Given the description of an element on the screen output the (x, y) to click on. 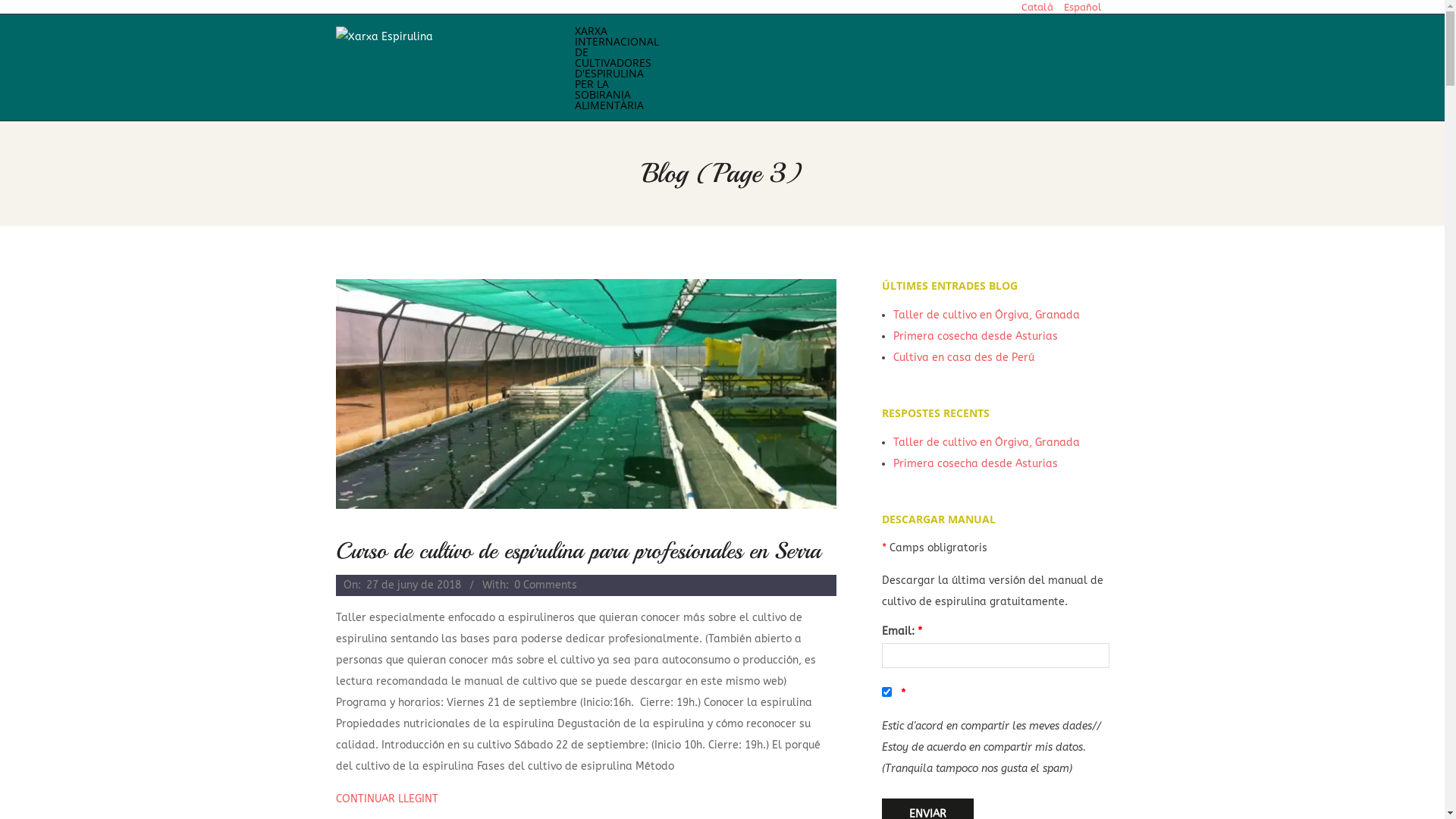
Primera cosecha desde Asturias Element type: text (975, 463)
0 Comments Element type: text (545, 584)
Curso de cultivo de espirulina para profesionales en Serra Element type: text (577, 550)
Primera cosecha desde Asturias Element type: text (975, 335)
CONTINUAR LLEGINT Element type: text (585, 798)
